Given the description of an element on the screen output the (x, y) to click on. 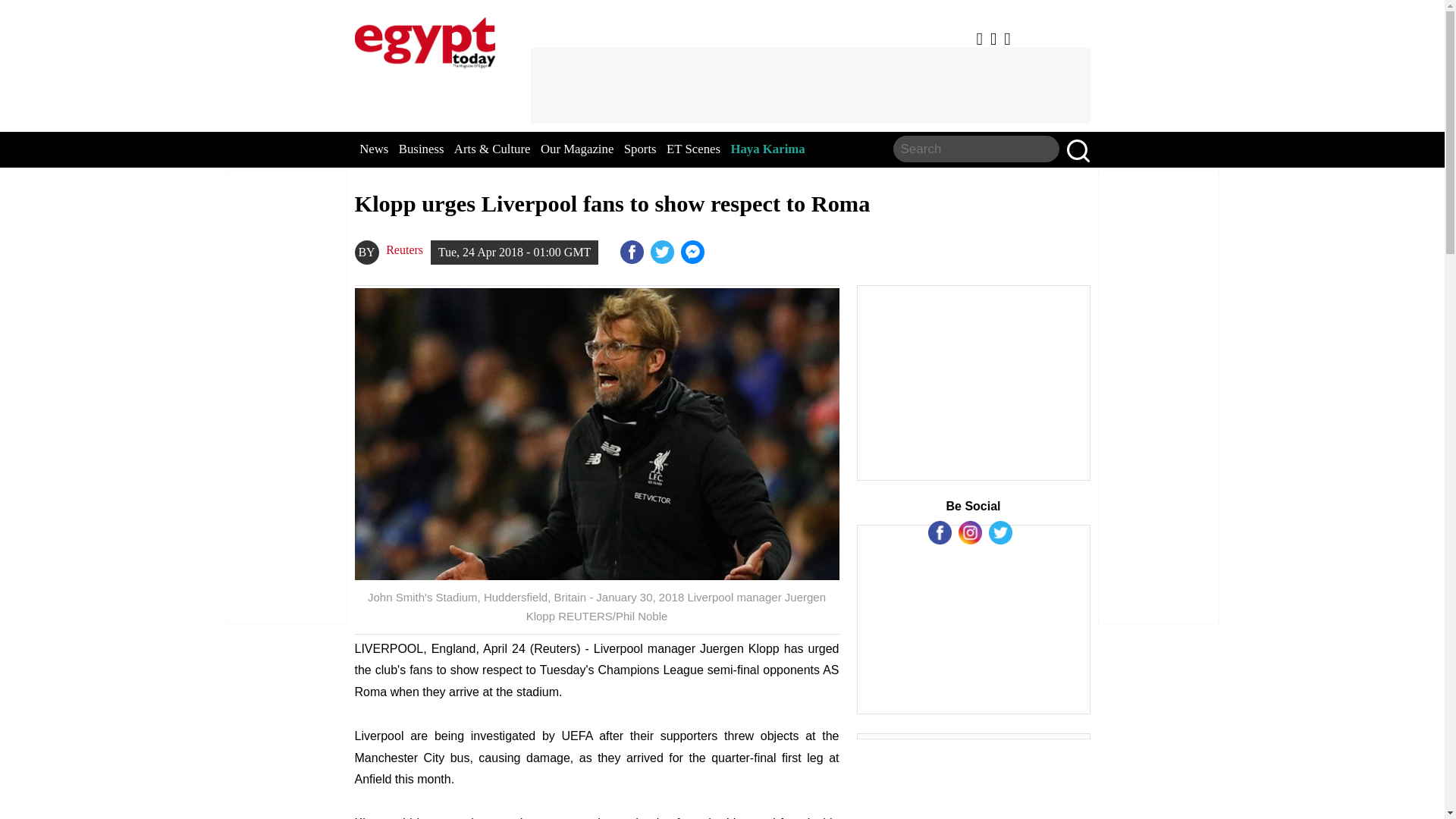
EgyptToday (425, 39)
Business (421, 149)
Haya Karima (767, 149)
ET Scenes (693, 149)
Sports (640, 149)
Reuters (404, 250)
Sisi heads to Guinea first destination in overseas tour (694, 251)
Our Magazine (576, 149)
